Given the description of an element on the screen output the (x, y) to click on. 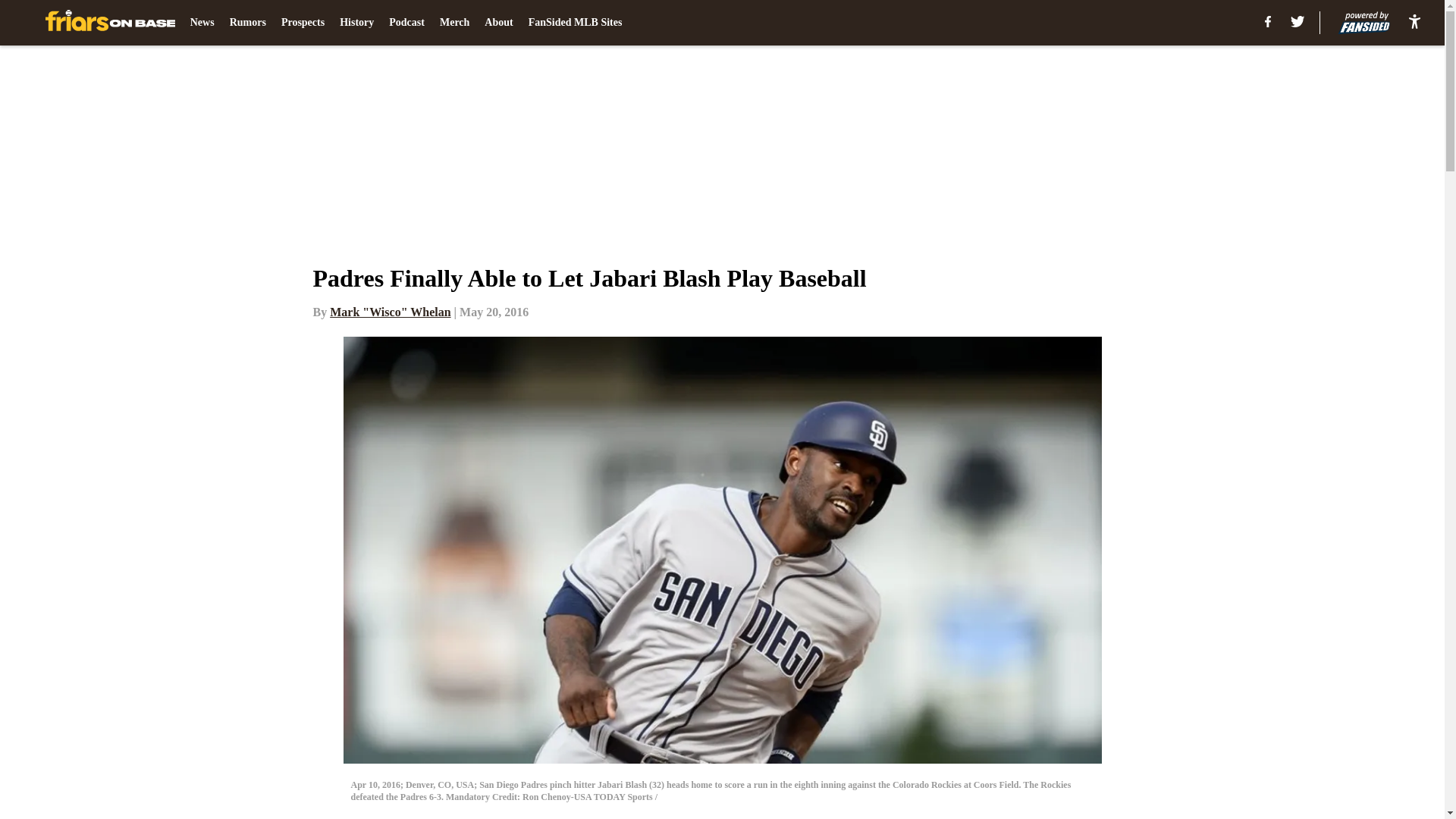
FanSided MLB Sites (575, 22)
History (356, 22)
Mark "Wisco" Whelan (389, 311)
Merch (453, 22)
Podcast (406, 22)
Prospects (302, 22)
Rumors (248, 22)
About (498, 22)
News (202, 22)
